Given the description of an element on the screen output the (x, y) to click on. 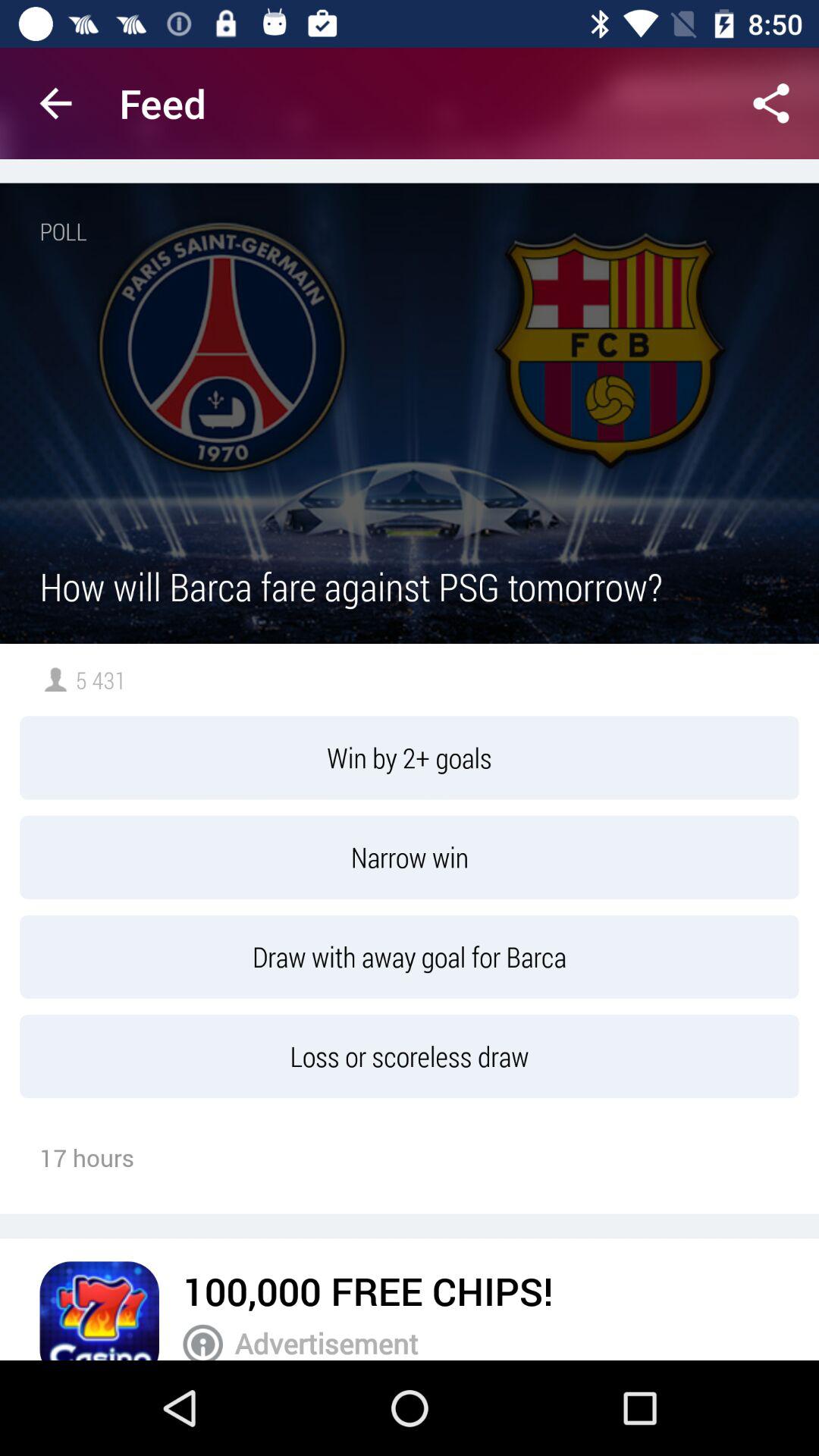
turn off the item to the right of the feed (771, 103)
